Given the description of an element on the screen output the (x, y) to click on. 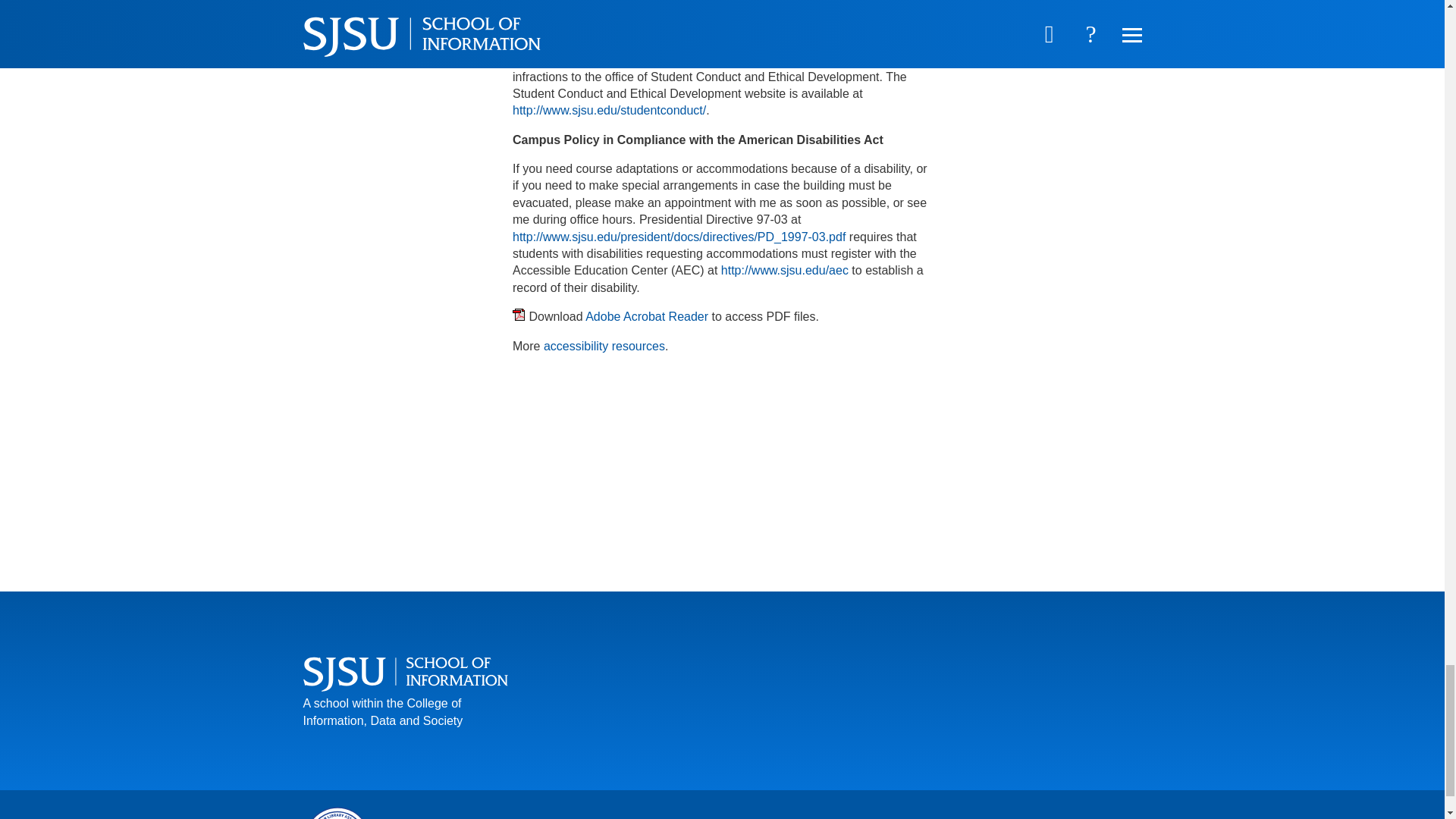
University Policy Academic Integrity (626, 42)
University Policy Ethical Conduct (609, 110)
